Given the description of an element on the screen output the (x, y) to click on. 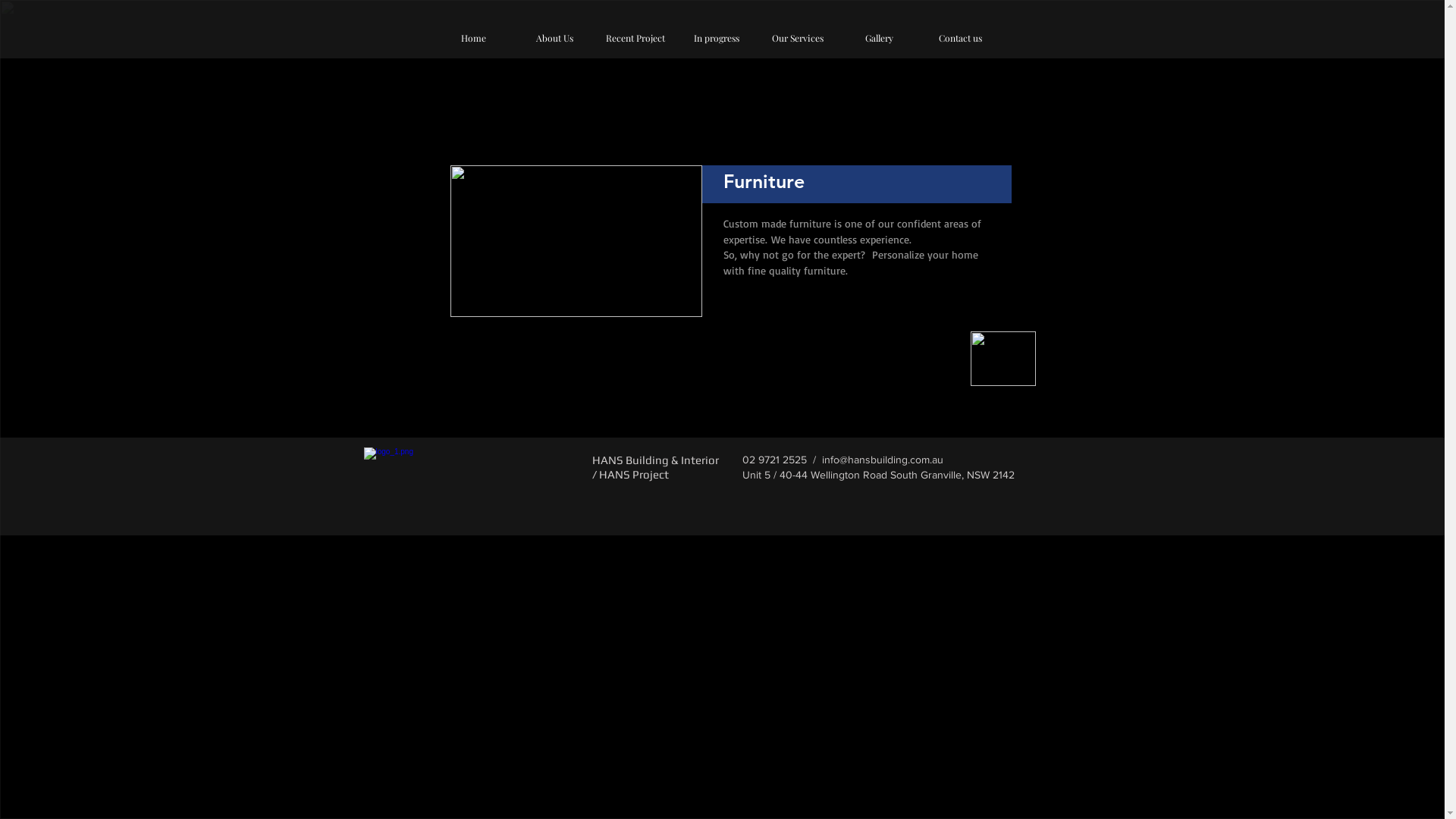
furniture.PNG Element type: hover (576, 240)
About Us Element type: text (554, 37)
Contact us Element type: text (959, 37)
Recent Project Element type: text (634, 37)
info@hansbuilding.com.au Element type: text (882, 459)
Our Services Element type: text (796, 37)
Home Element type: text (472, 37)
In progress Element type: text (716, 37)
Gallery Element type: text (878, 37)
